Given the description of an element on the screen output the (x, y) to click on. 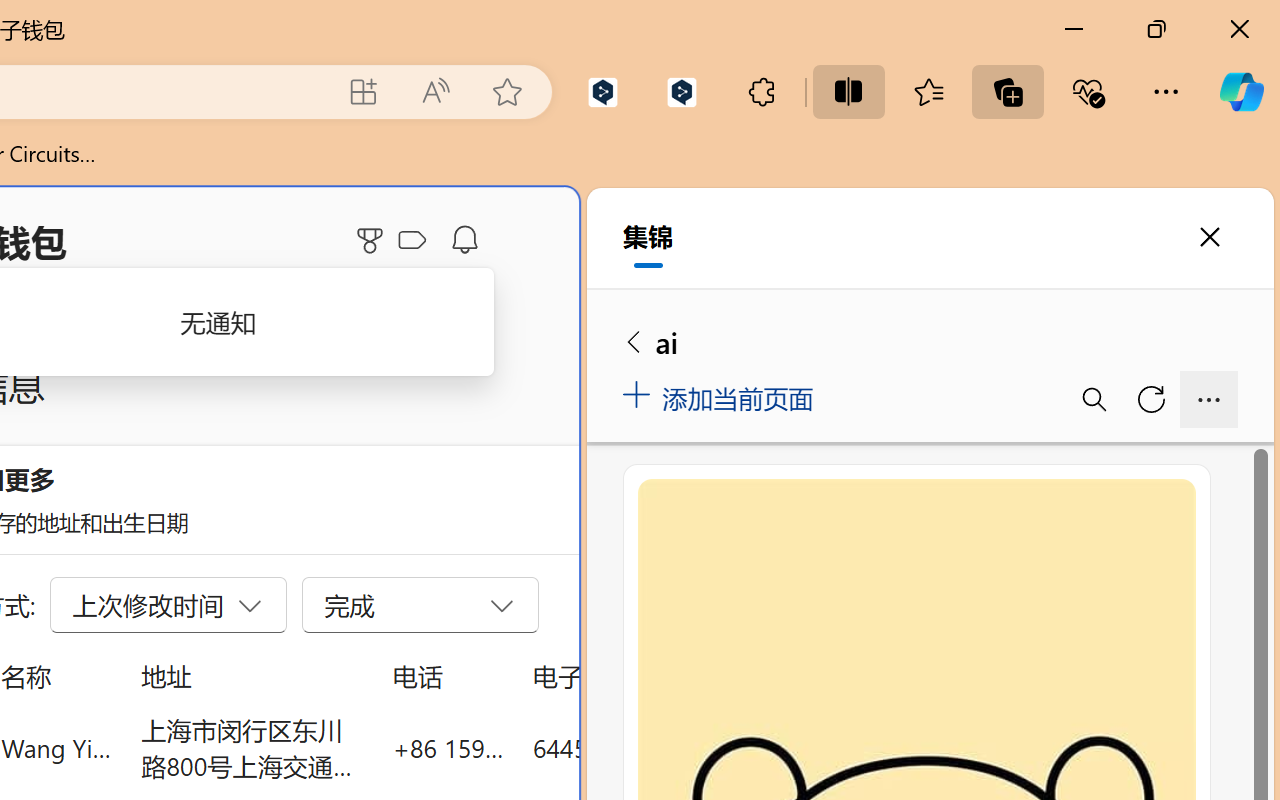
Microsoft Rewards (373, 240)
